Given the description of an element on the screen output the (x, y) to click on. 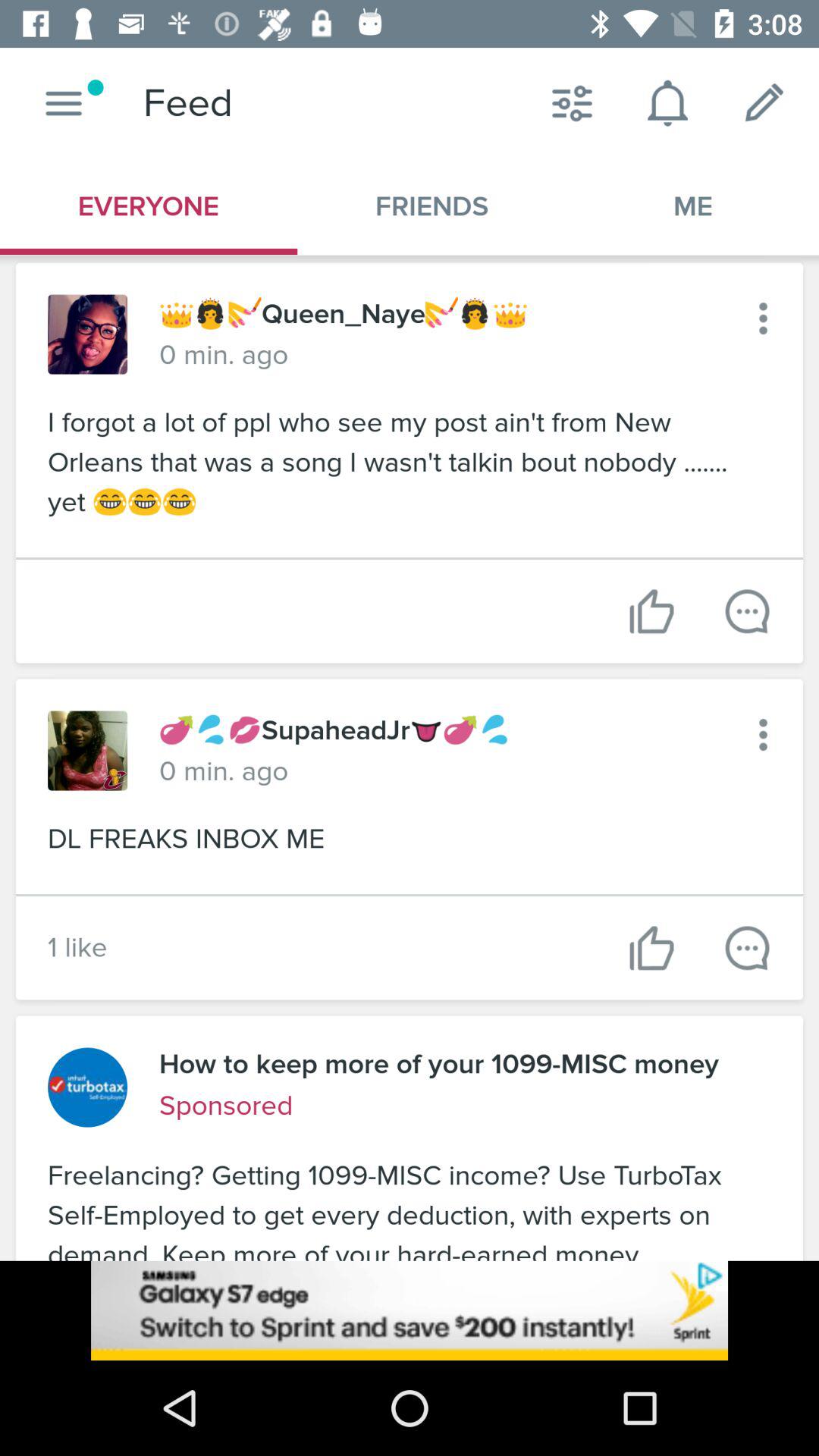
view more options (763, 734)
